Given the description of an element on the screen output the (x, y) to click on. 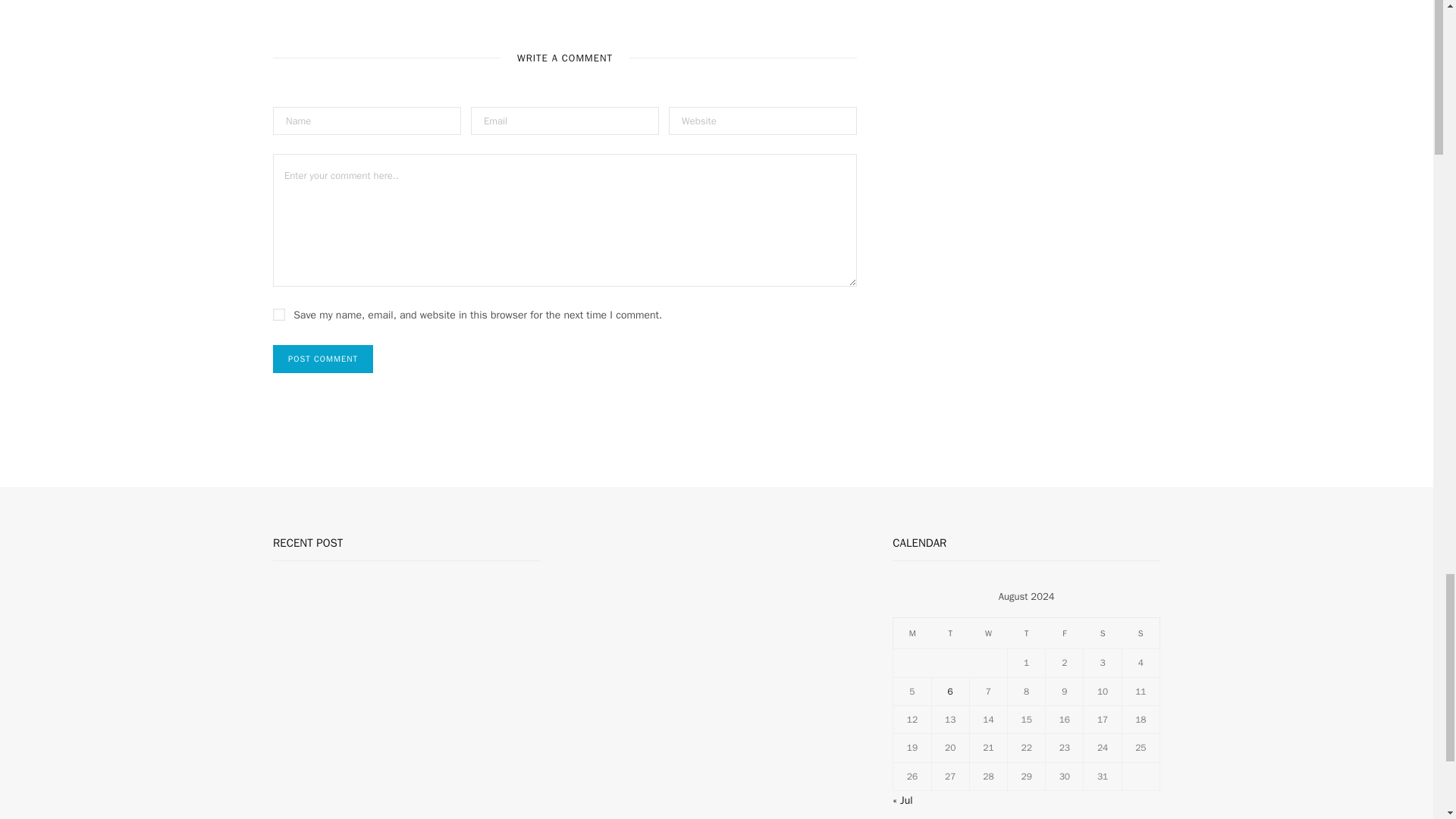
Tuesday (950, 633)
yes (279, 314)
Monday (912, 633)
Post Comment (322, 358)
Post Comment (322, 358)
Wednesday (988, 633)
